Given the description of an element on the screen output the (x, y) to click on. 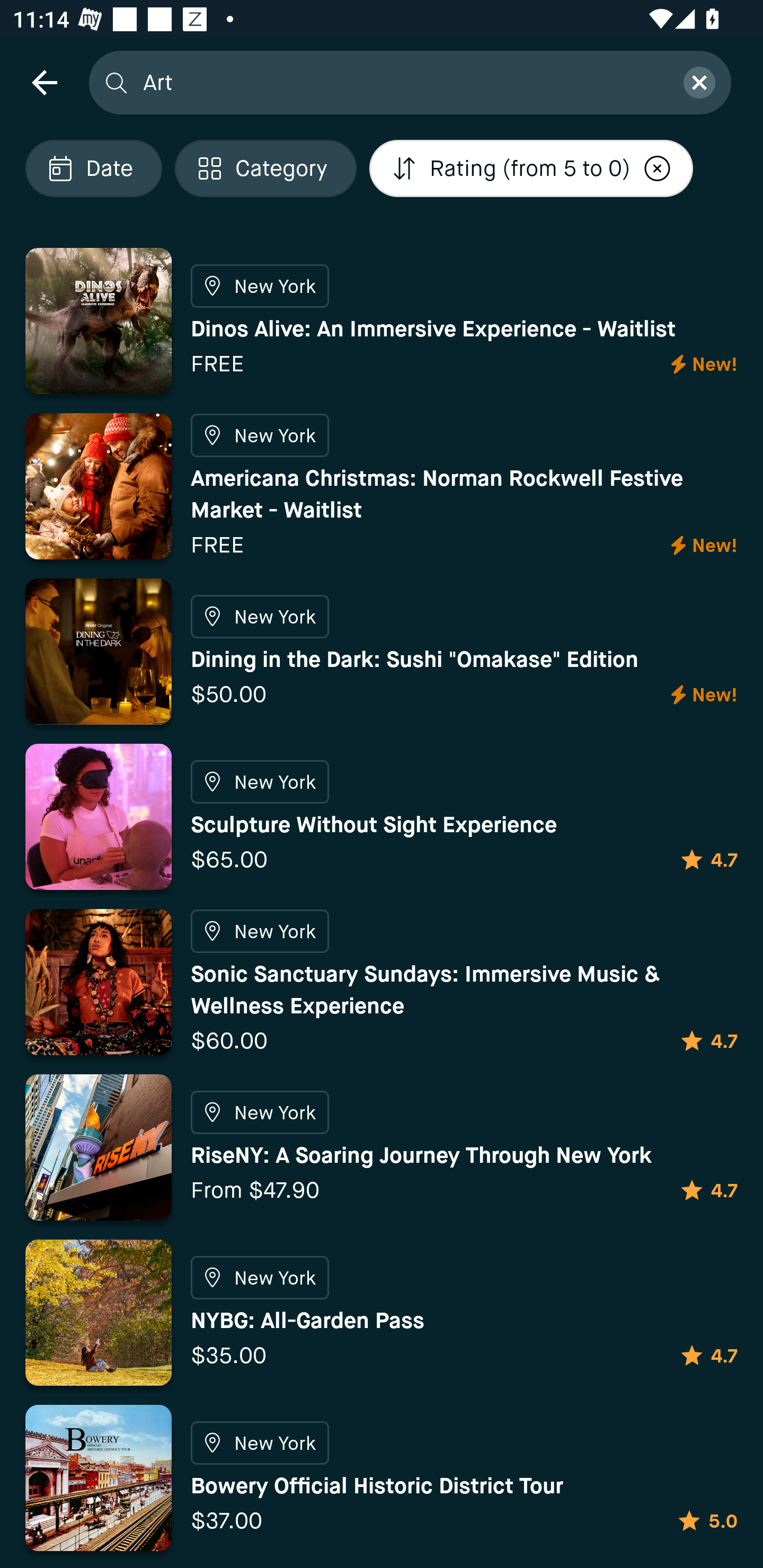
navigation icon (44, 81)
Art (402, 81)
Localized description Date (93, 168)
Localized description Category (265, 168)
Localized description (657, 168)
